Given the description of an element on the screen output the (x, y) to click on. 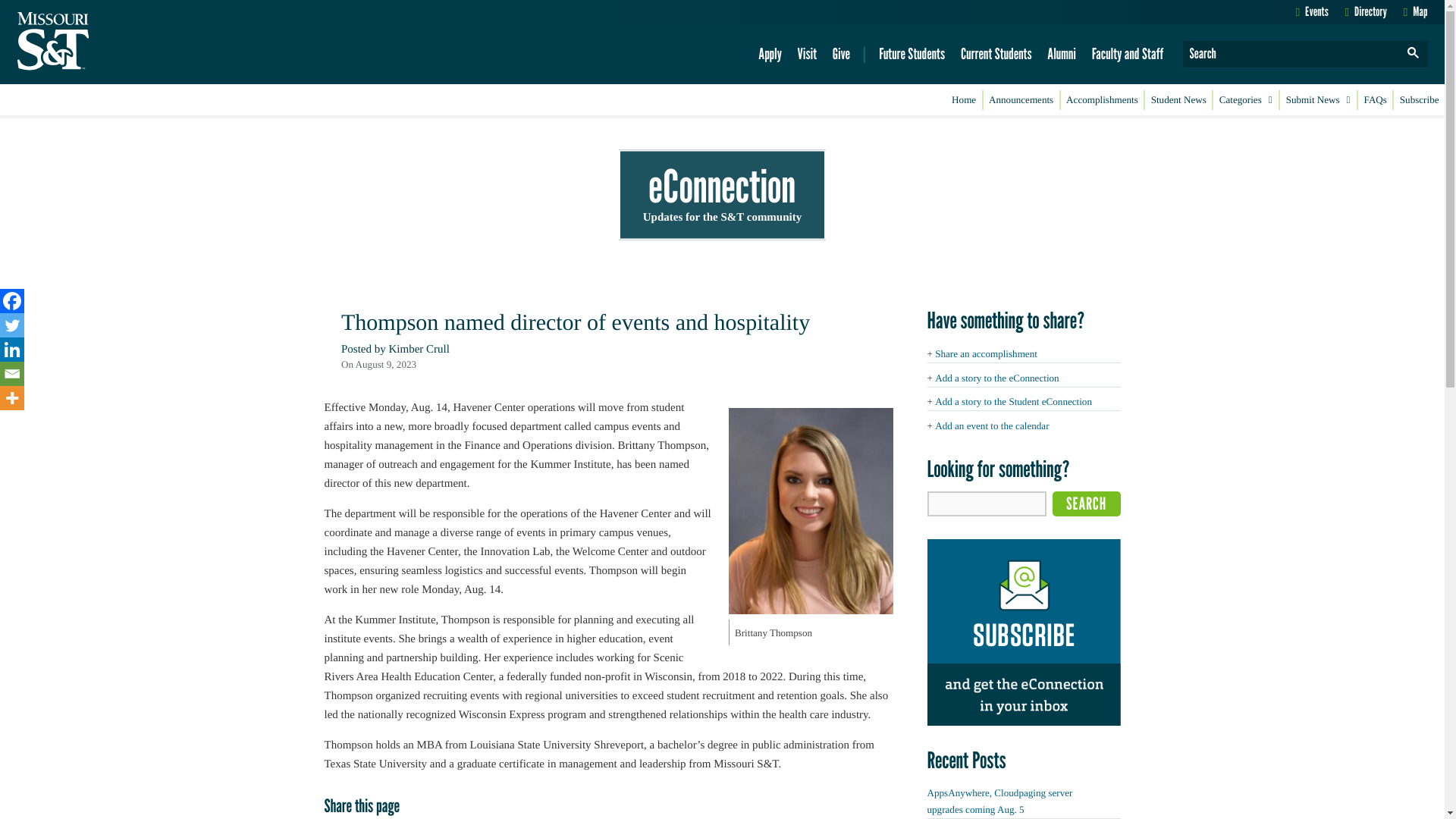
Facebook (12, 300)
Posts by Kimber Crull (418, 349)
Current Students (995, 53)
Email (12, 373)
Alumni (1061, 53)
Give (840, 53)
Faculty and Staff (1127, 53)
Accomplishments (1102, 99)
Search (1086, 503)
Map (1415, 11)
More (12, 397)
Apply (769, 53)
Visit (806, 53)
Categories (1245, 99)
Future Students (911, 53)
